Given the description of an element on the screen output the (x, y) to click on. 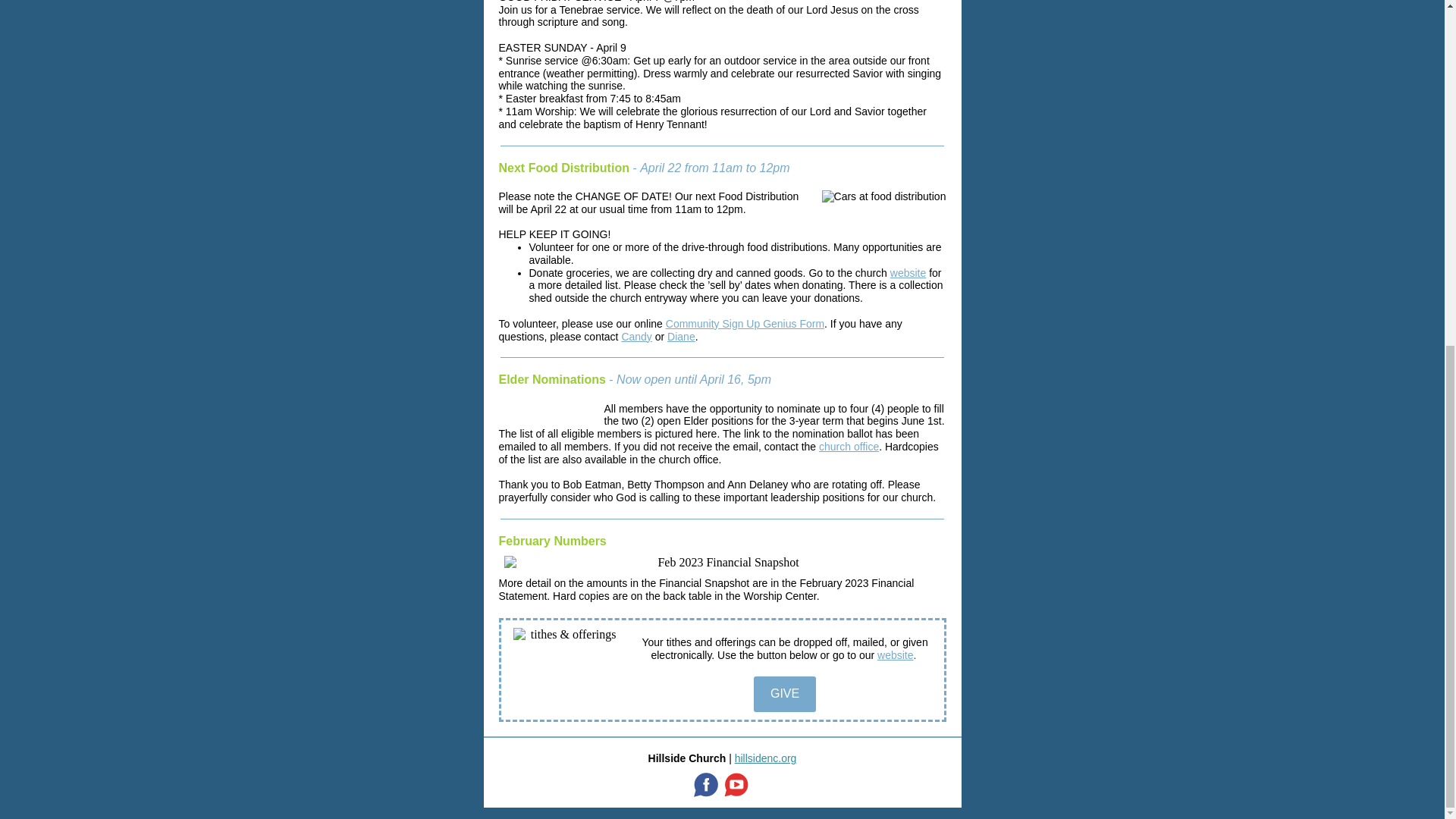
Candy (635, 336)
website (894, 654)
Diane (680, 336)
Community Sign Up Genius Form (744, 323)
website (907, 272)
church office (848, 446)
GIVE (784, 693)
hillsidenc.org (765, 758)
